Given the description of an element on the screen output the (x, y) to click on. 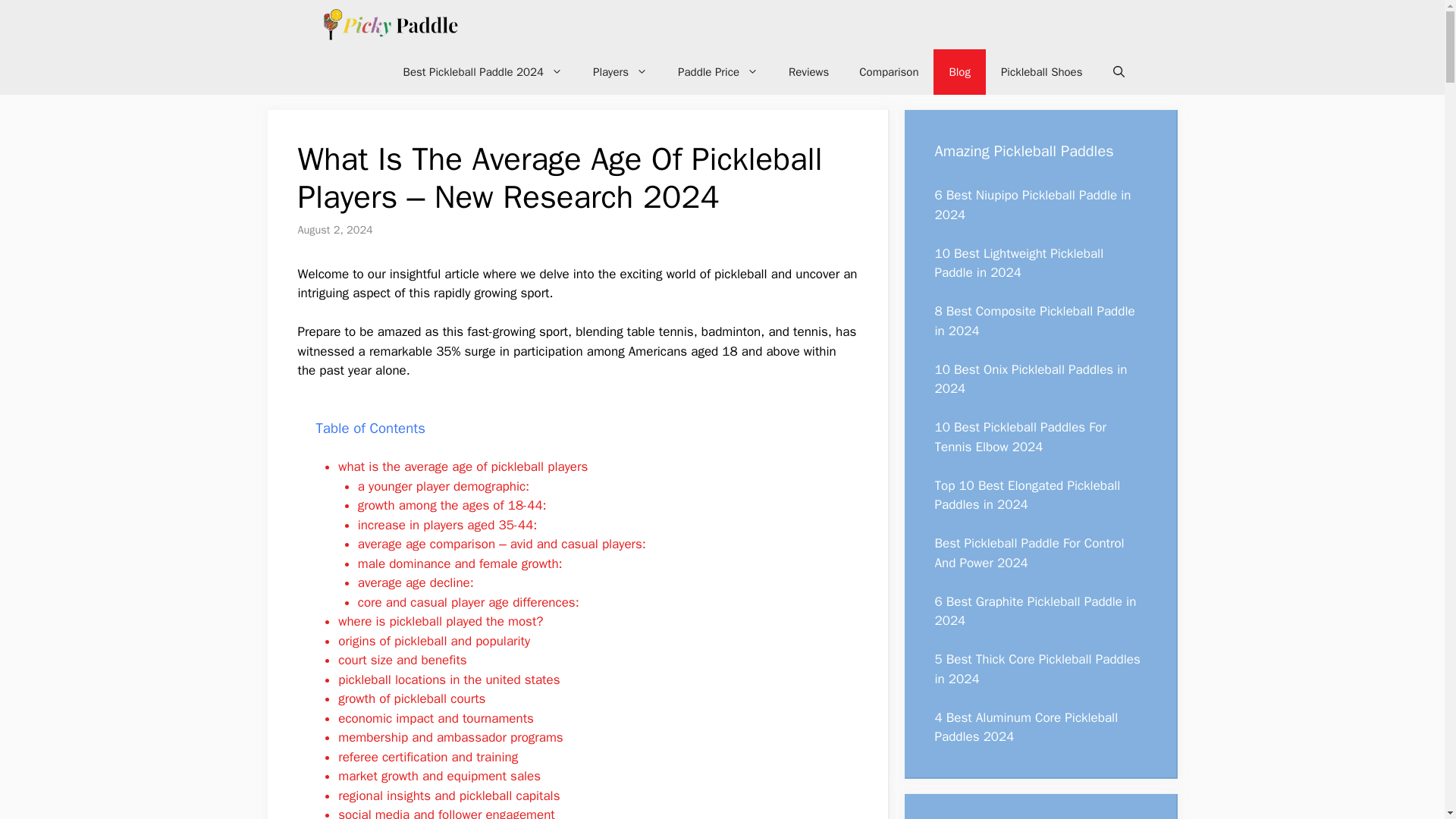
Comparison (888, 72)
core and casual player age differences: (468, 602)
Blog (959, 72)
increase in players aged 35-44: (447, 524)
growth among the ages of 18-44: (452, 505)
Reviews (808, 72)
a younger player demographic: (443, 486)
Pickleball Shoes (1041, 72)
Best Pickleball Paddle 2024 (483, 72)
what is the average age of pickleball players (462, 466)
Paddle Price (717, 72)
male dominance and female growth: (460, 563)
Players (620, 72)
average age decline: (416, 582)
